Given the description of an element on the screen output the (x, y) to click on. 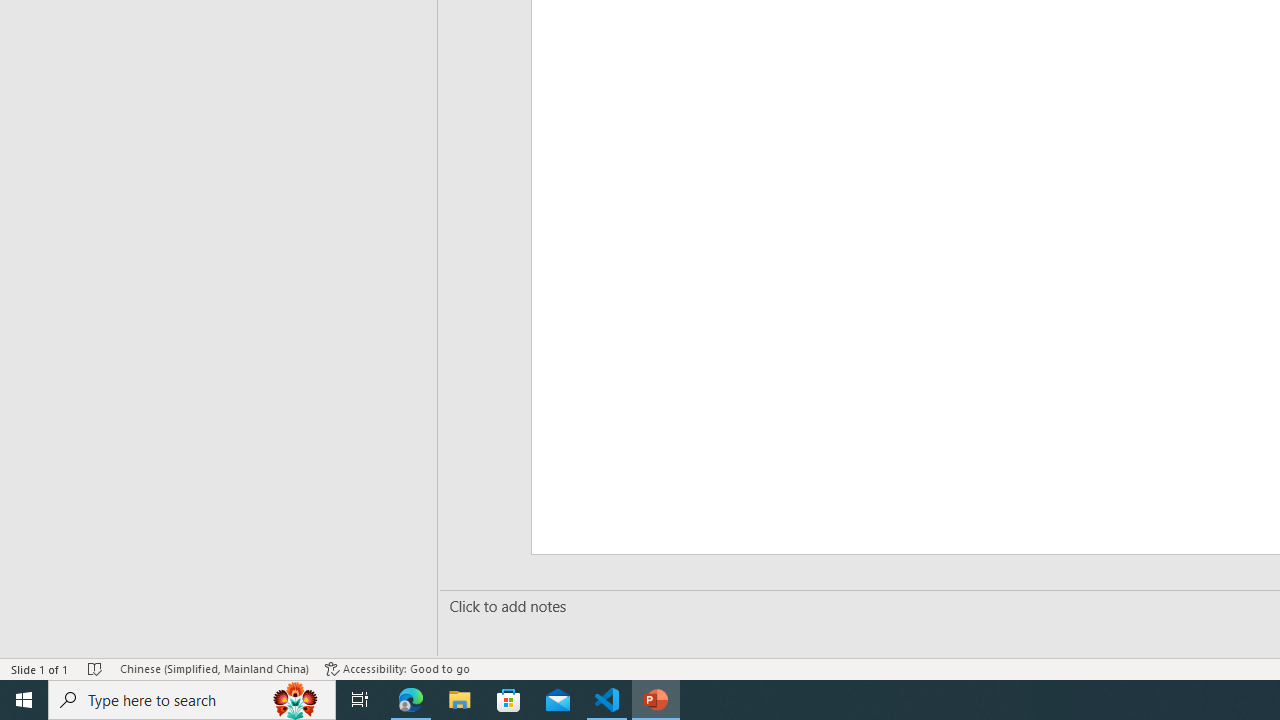
Spell Check No Errors (95, 668)
Accessibility Checker Accessibility: Good to go (397, 668)
